Given the description of an element on the screen output the (x, y) to click on. 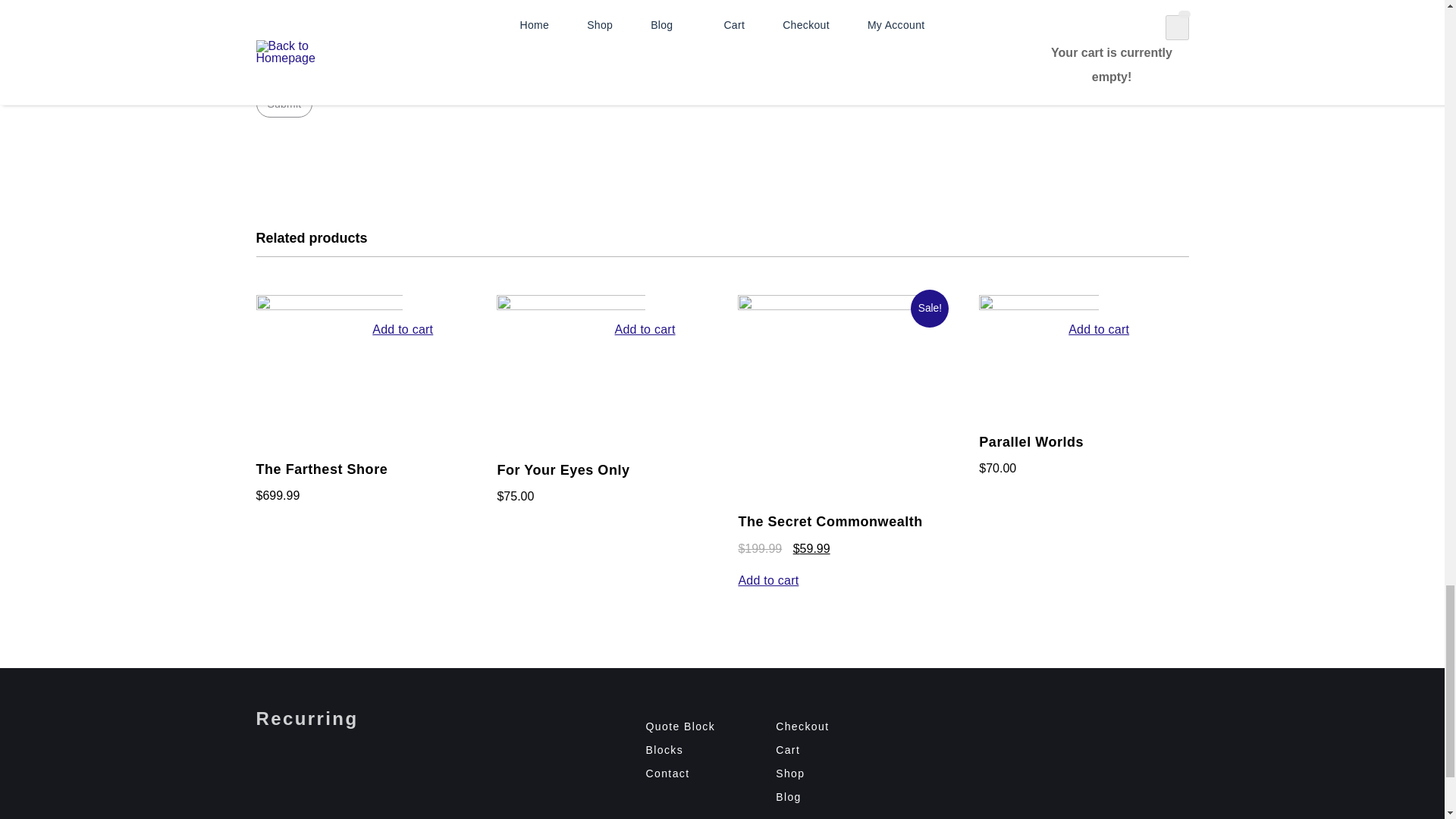
Submit (284, 103)
yes (264, 69)
Add to cart (402, 414)
Submit (284, 103)
